Given the description of an element on the screen output the (x, y) to click on. 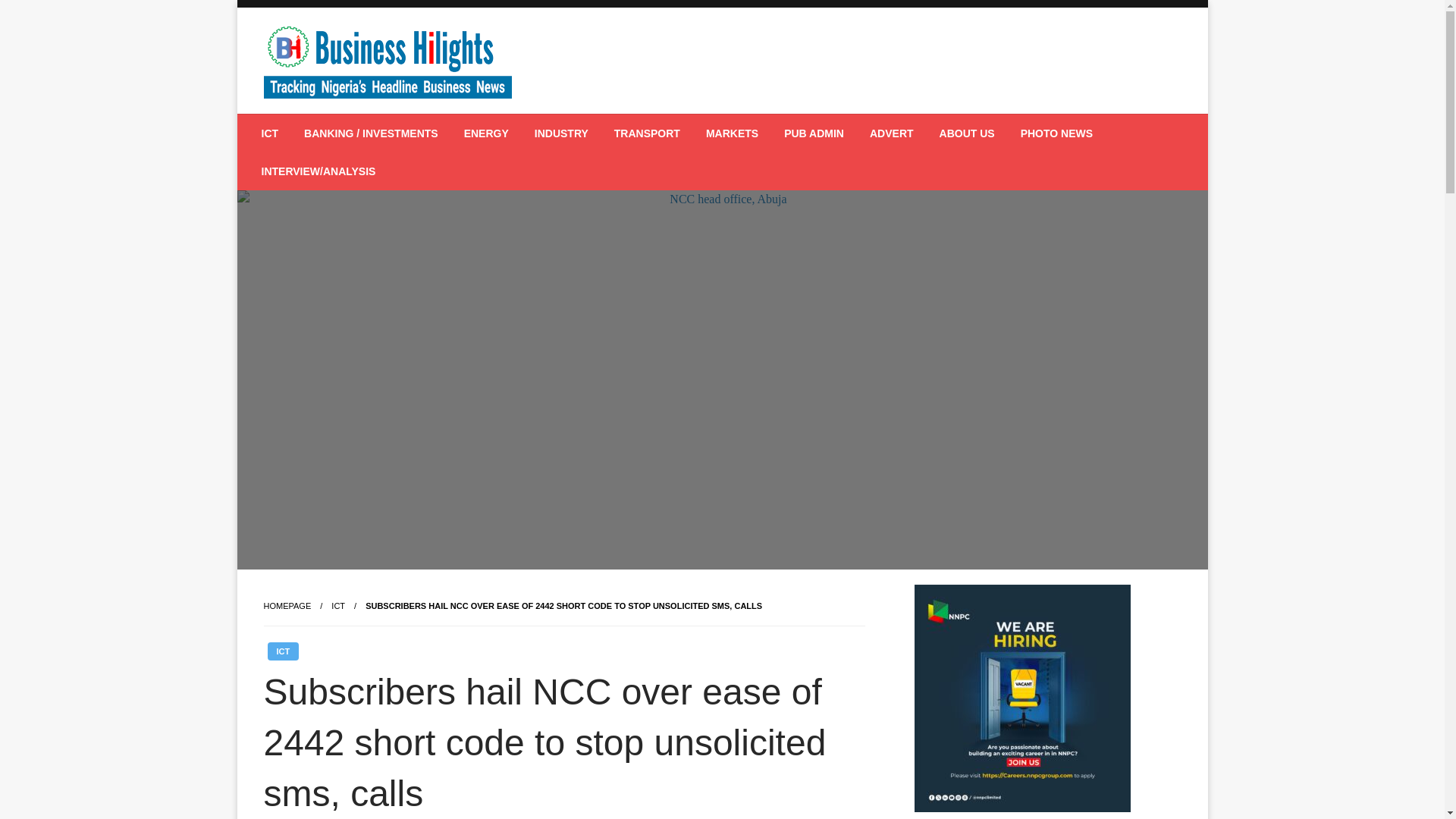
ICT (338, 605)
ENERGY (486, 133)
INDUSTRY (561, 133)
ICT (270, 133)
ICT (282, 651)
HOMEPAGE (287, 605)
Homepage (287, 605)
PHOTO NEWS (1056, 133)
ICT (338, 605)
Business Hilights (379, 125)
